Given the description of an element on the screen output the (x, y) to click on. 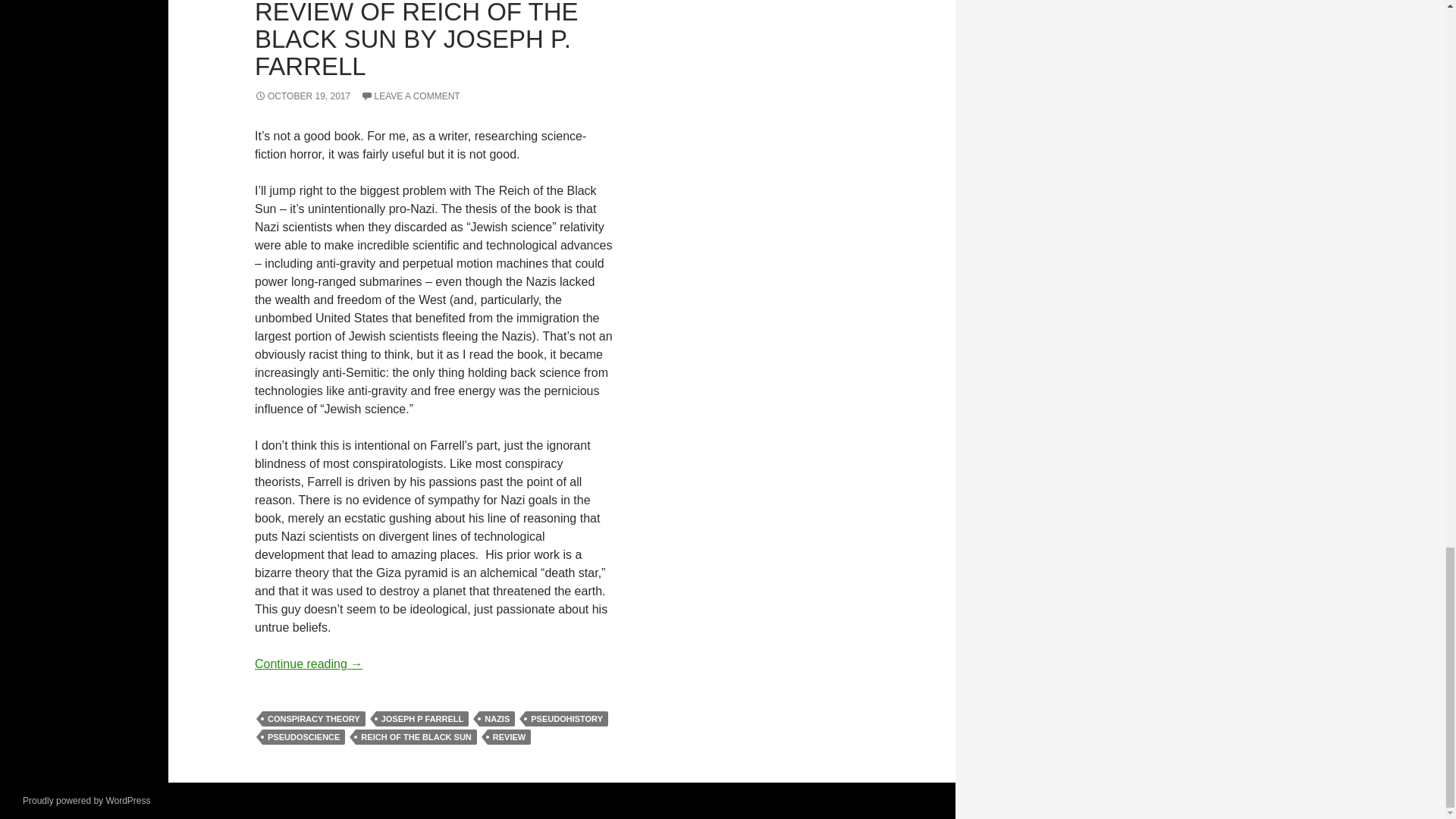
REVIEW OF REICH OF THE BLACK SUN BY JOSEPH P. FARRELL (416, 40)
LEAVE A COMMENT (410, 95)
OCTOBER 19, 2017 (302, 95)
